Given the description of an element on the screen output the (x, y) to click on. 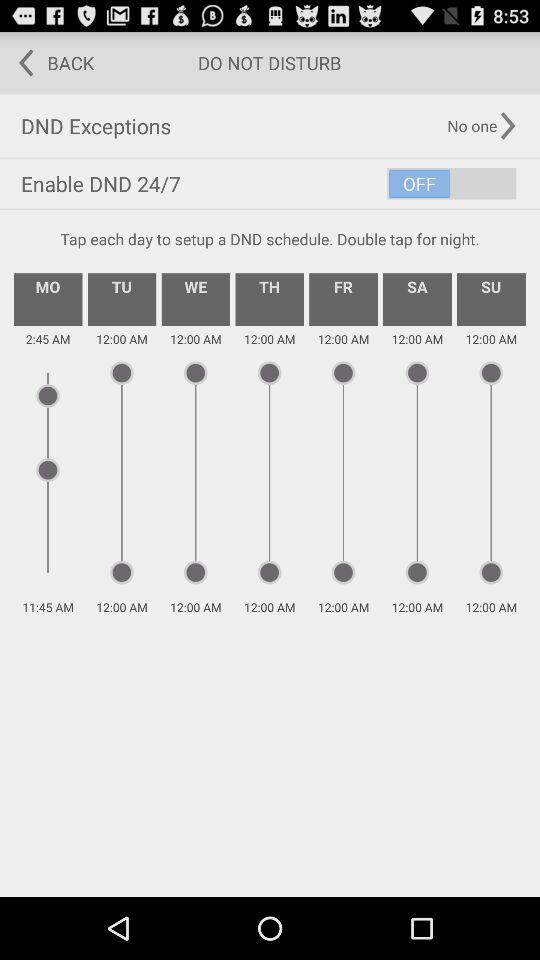
choose item above the 2:45 am (121, 299)
